Given the description of an element on the screen output the (x, y) to click on. 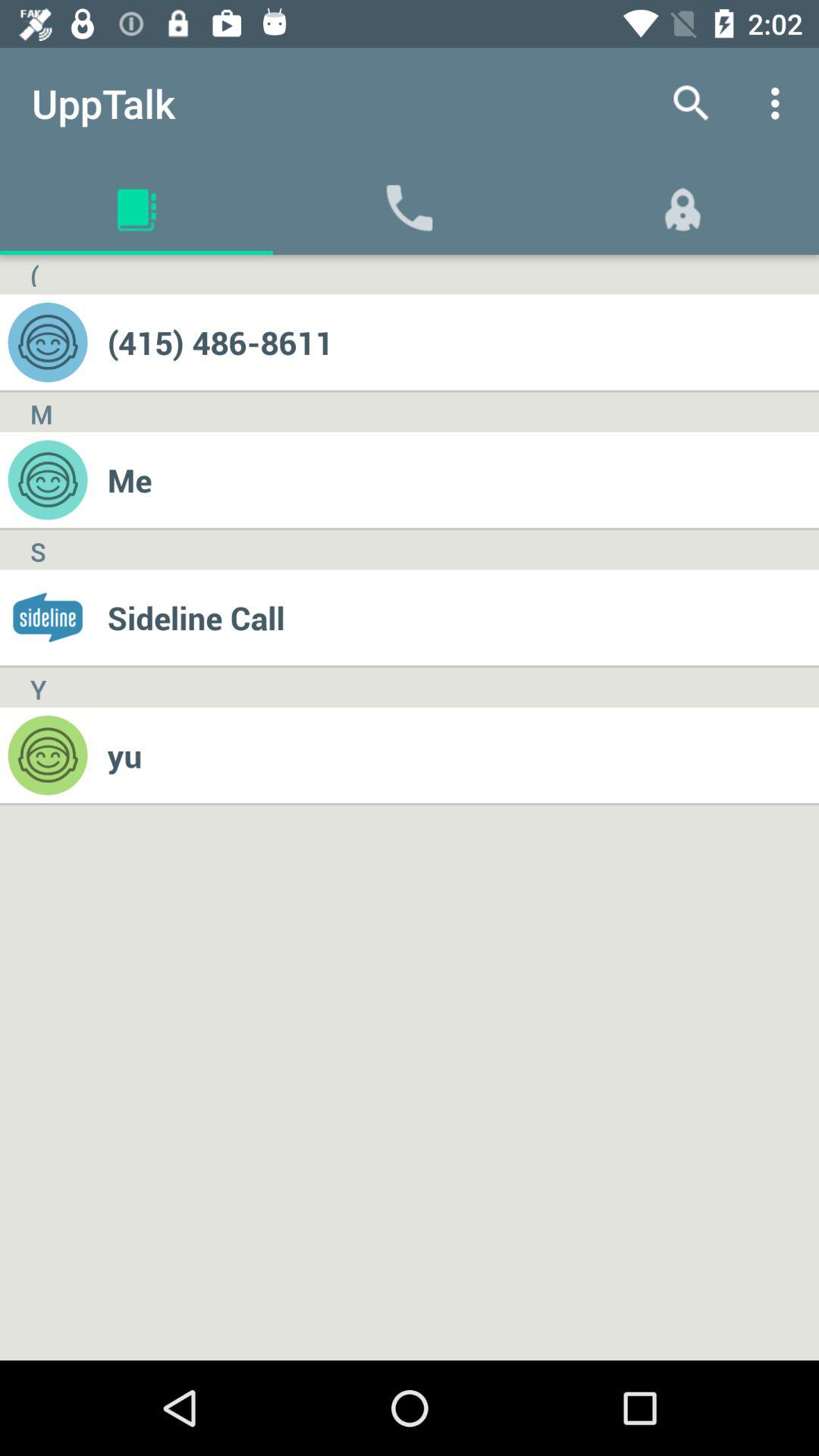
turn off the m item (41, 412)
